Given the description of an element on the screen output the (x, y) to click on. 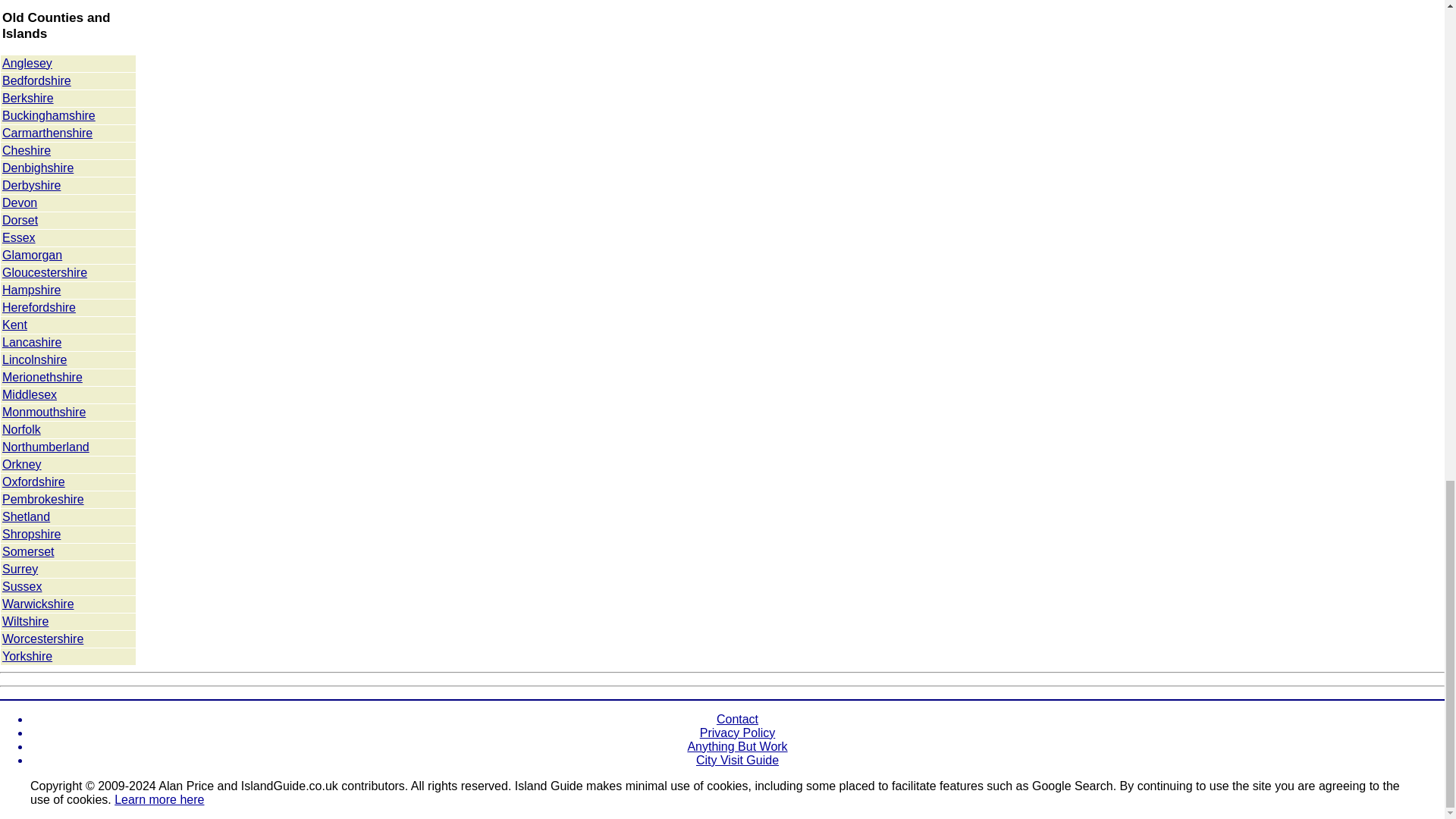
Merionethshire (42, 377)
Hampshire (31, 289)
Middlesex (29, 394)
Northumberland (45, 446)
Denbighshire (38, 167)
Buckinghamshire (49, 115)
Anglesey (27, 62)
Berkshire (27, 97)
Cheshire (26, 150)
Carmarthenshire (47, 132)
Orkney (22, 463)
Bedfordshire (36, 80)
Oxfordshire (33, 481)
Derbyshire (31, 185)
Shetland (25, 516)
